Given the description of an element on the screen output the (x, y) to click on. 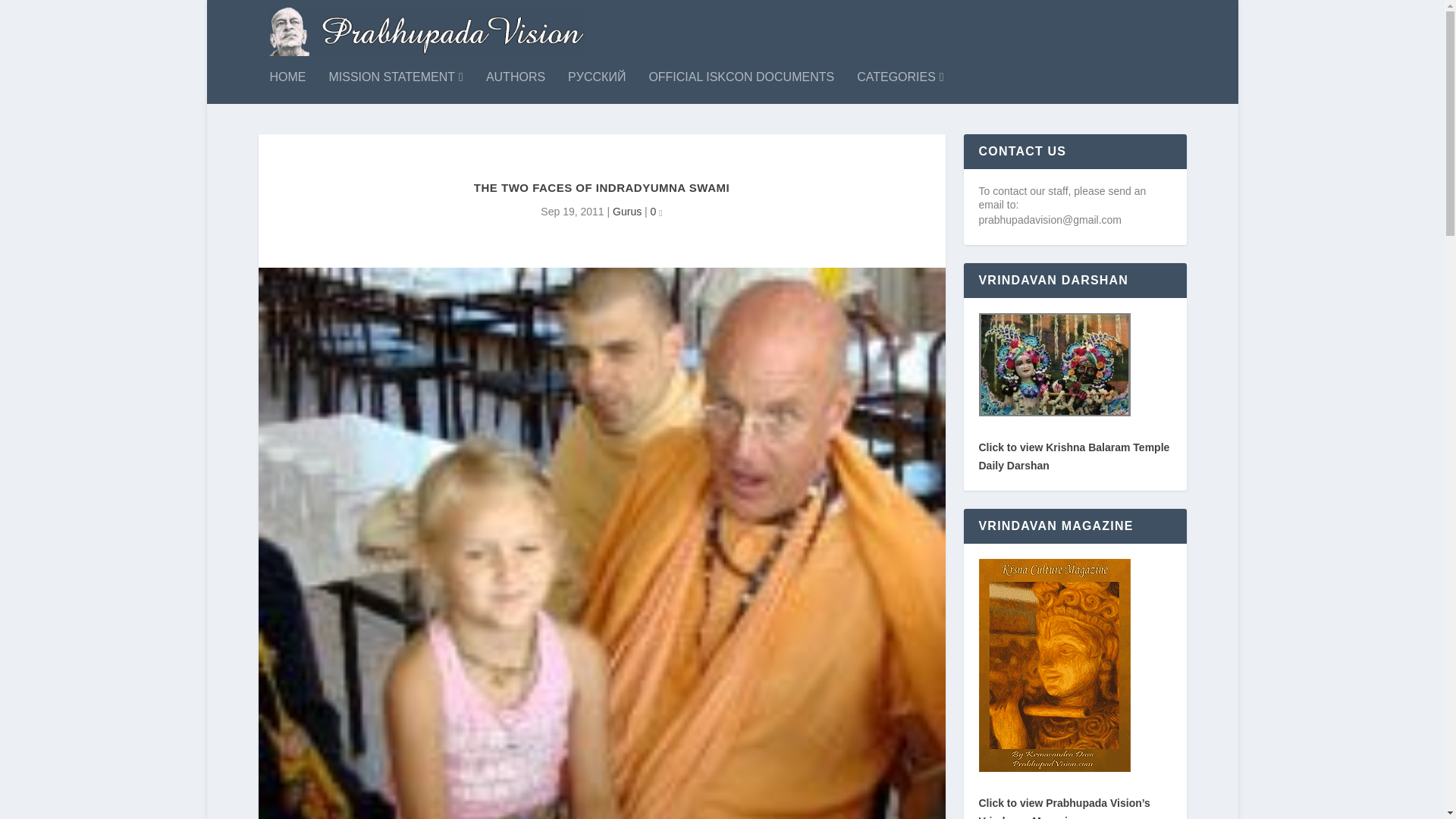
Gurus (627, 211)
OFFICIAL ISKCON DOCUMENTS (740, 97)
CATEGORIES (900, 97)
MISSION STATEMENT (396, 97)
AUTHORS (515, 97)
0 (656, 211)
